Given the description of an element on the screen output the (x, y) to click on. 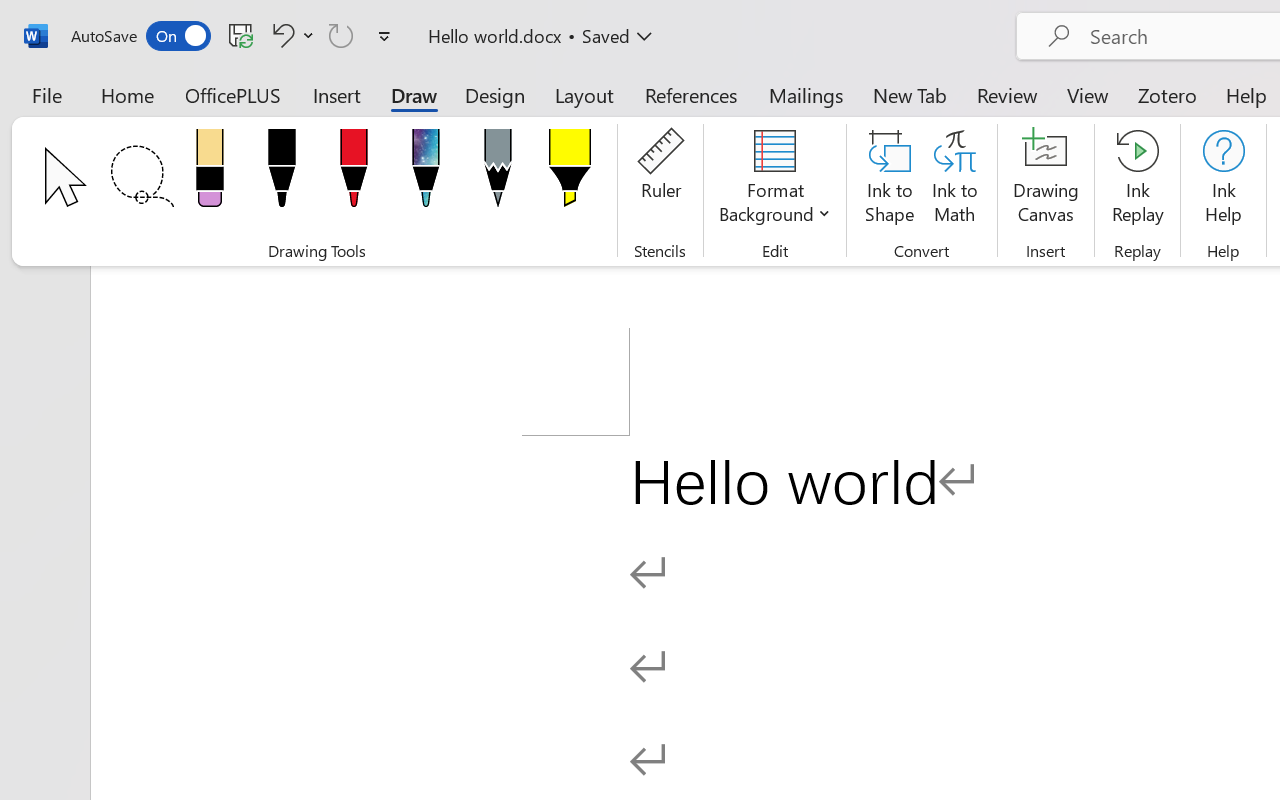
Screen Recording (290, 114)
From Beginning... (158, 114)
Clear Recording (412, 114)
